Given the description of an element on the screen output the (x, y) to click on. 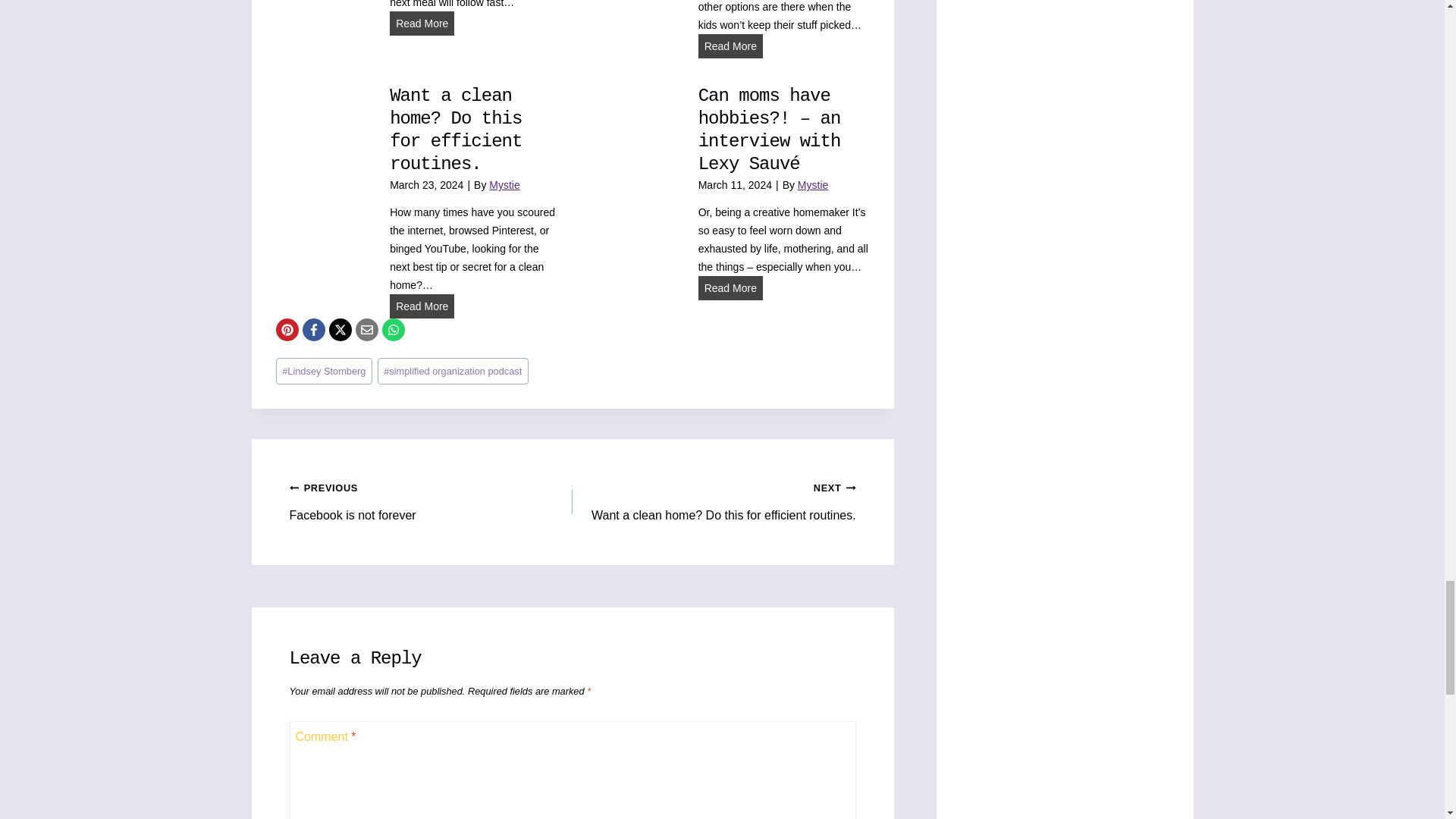
Lindsey Stomberg (324, 370)
simplified organization podcast (452, 370)
